Given the description of an element on the screen output the (x, y) to click on. 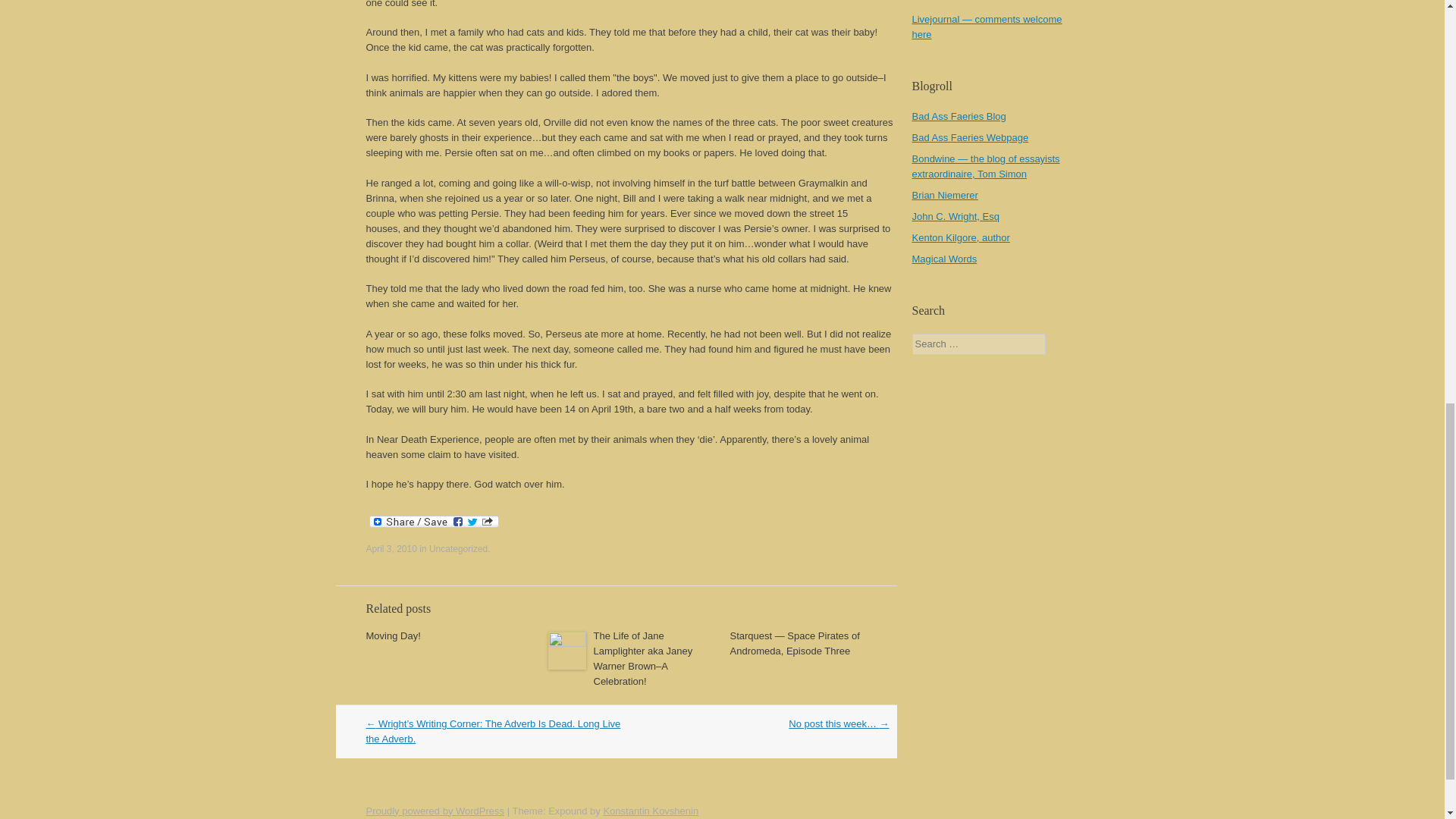
April 3, 2010 (390, 548)
Mr. Superversive himself (985, 166)
Website of author Kenton Kilgore (960, 237)
Permalink to Moving Day! (392, 635)
Moving Day! (392, 635)
The blog of author Brian Niemerer (943, 194)
Website featuring the Bad Ass Faeries Anthology Series (969, 137)
Uncategorized (458, 548)
